Given the description of an element on the screen output the (x, y) to click on. 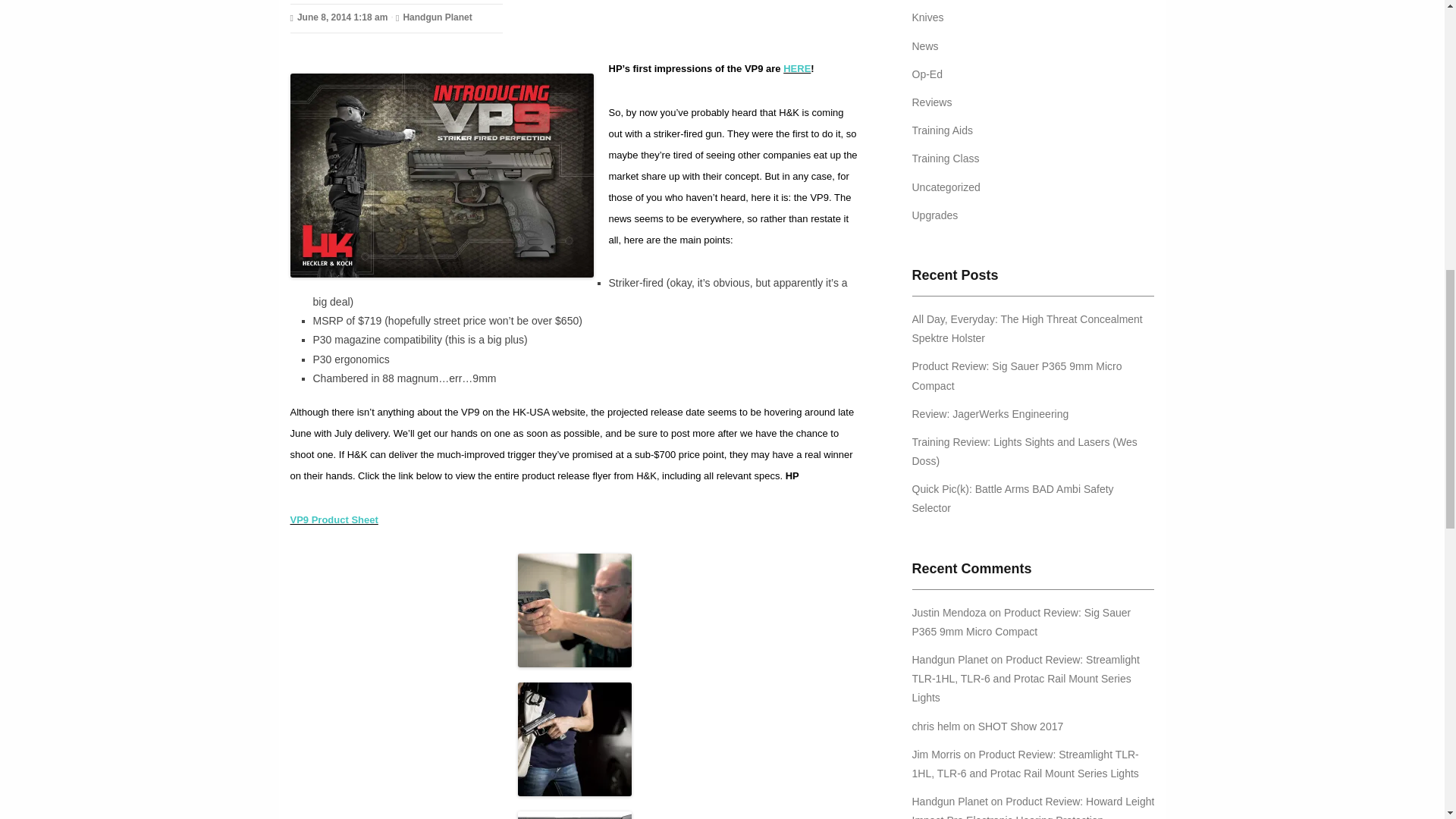
VP9 Product Sheet (333, 519)
HERE (796, 68)
HERE (796, 68)
June 8, 2014 1:18 am (338, 17)
by Handgun Planet (433, 17)
Handgun Planet (433, 17)
June 8, 2014 1:18 am (338, 17)
